Given the description of an element on the screen output the (x, y) to click on. 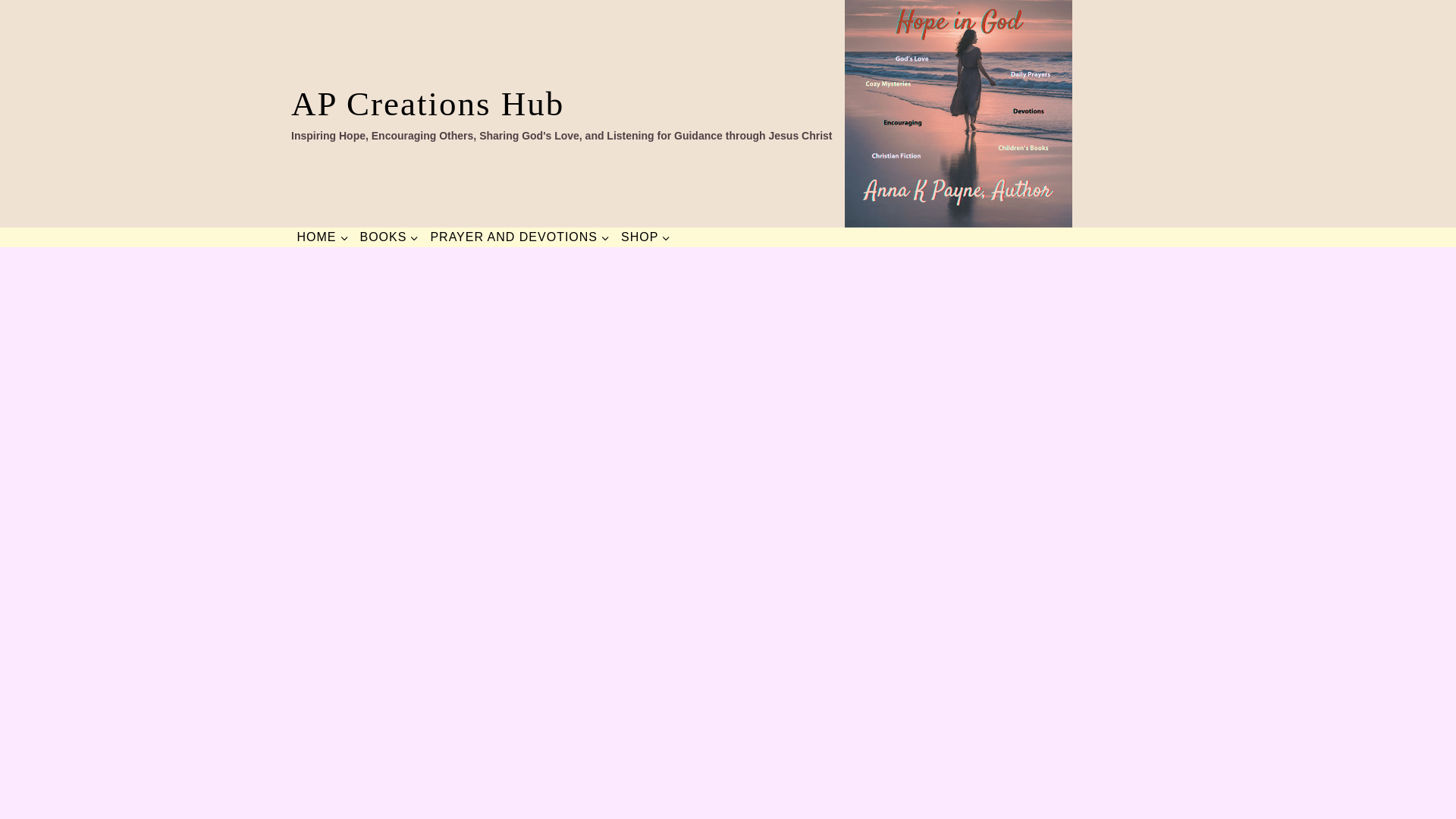
BOOKS (389, 237)
PRAYER AND DEVOTIONS (520, 237)
SHOP (646, 237)
HOME (322, 237)
